Given the description of an element on the screen output the (x, y) to click on. 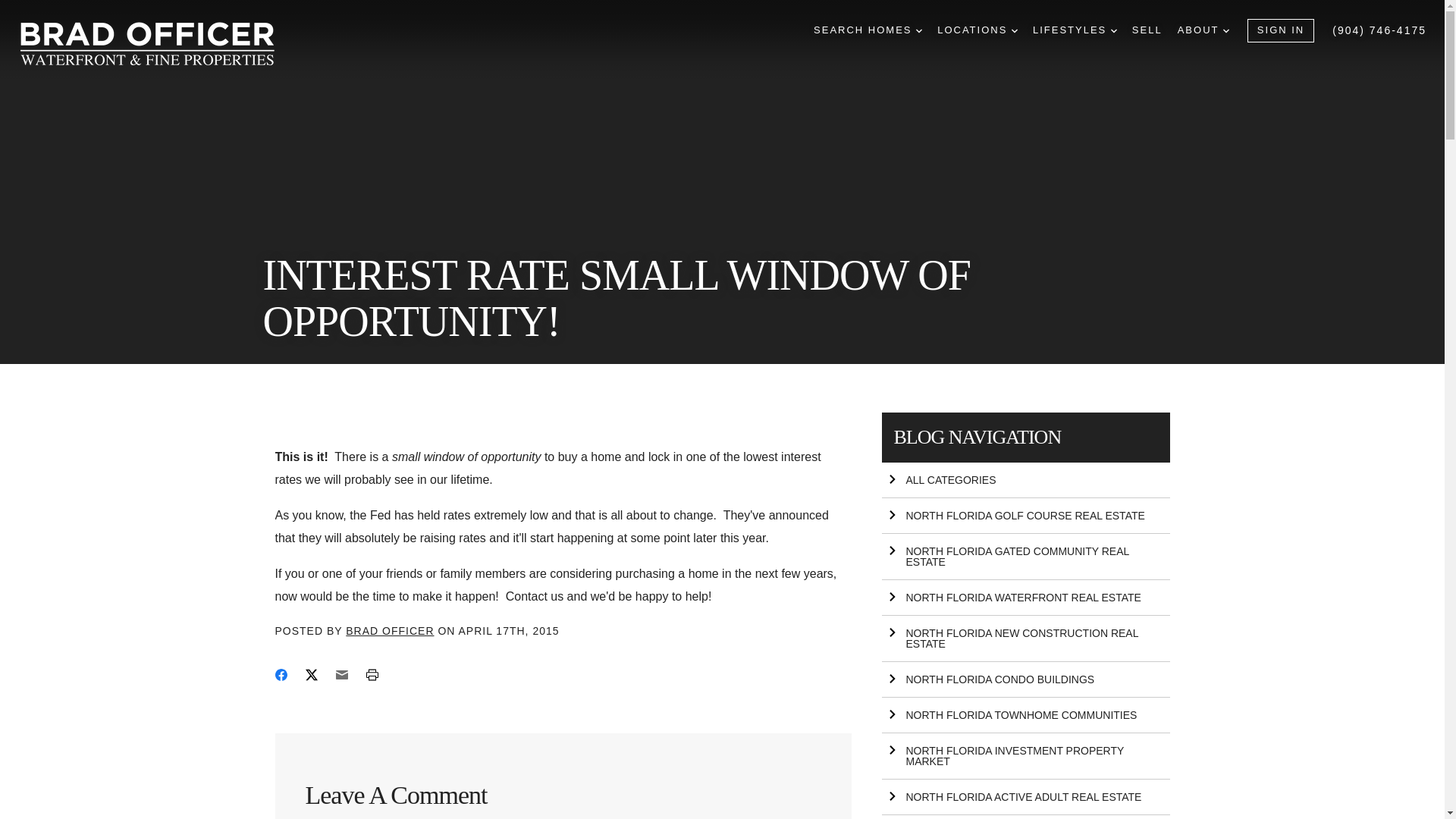
DROPDOWN ARROW (1225, 30)
LOCATIONS DROPDOWN ARROW (977, 30)
SELL (1146, 30)
ABOUT DROPDOWN ARROW (1202, 30)
LIFESTYLES DROPDOWN ARROW (1074, 30)
DROPDOWN ARROW (1113, 30)
SEARCH HOMES DROPDOWN ARROW (867, 30)
DROPDOWN ARROW (918, 30)
DROPDOWN ARROW (1014, 30)
